Given the description of an element on the screen output the (x, y) to click on. 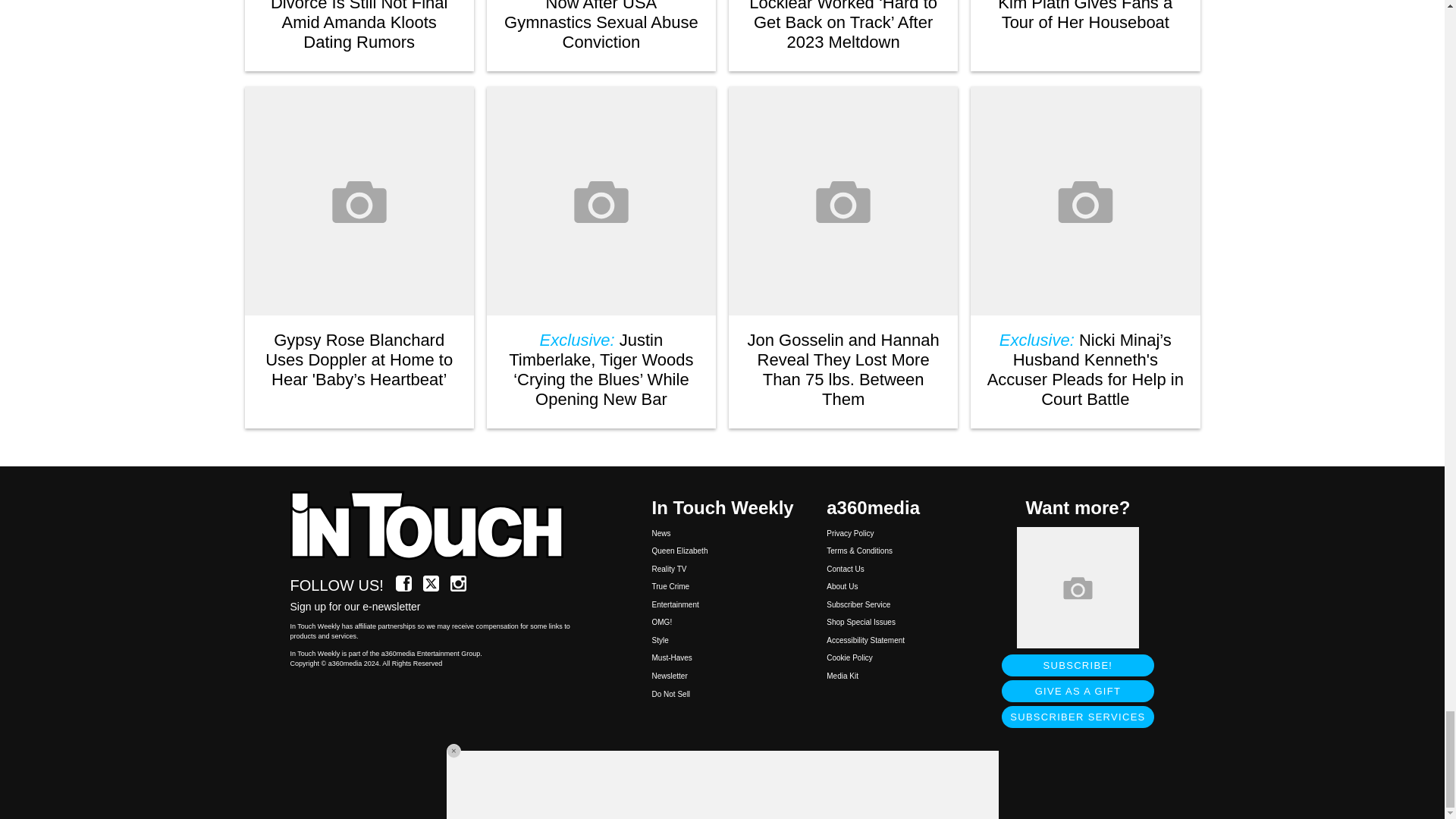
Home (434, 526)
